Given the description of an element on the screen output the (x, y) to click on. 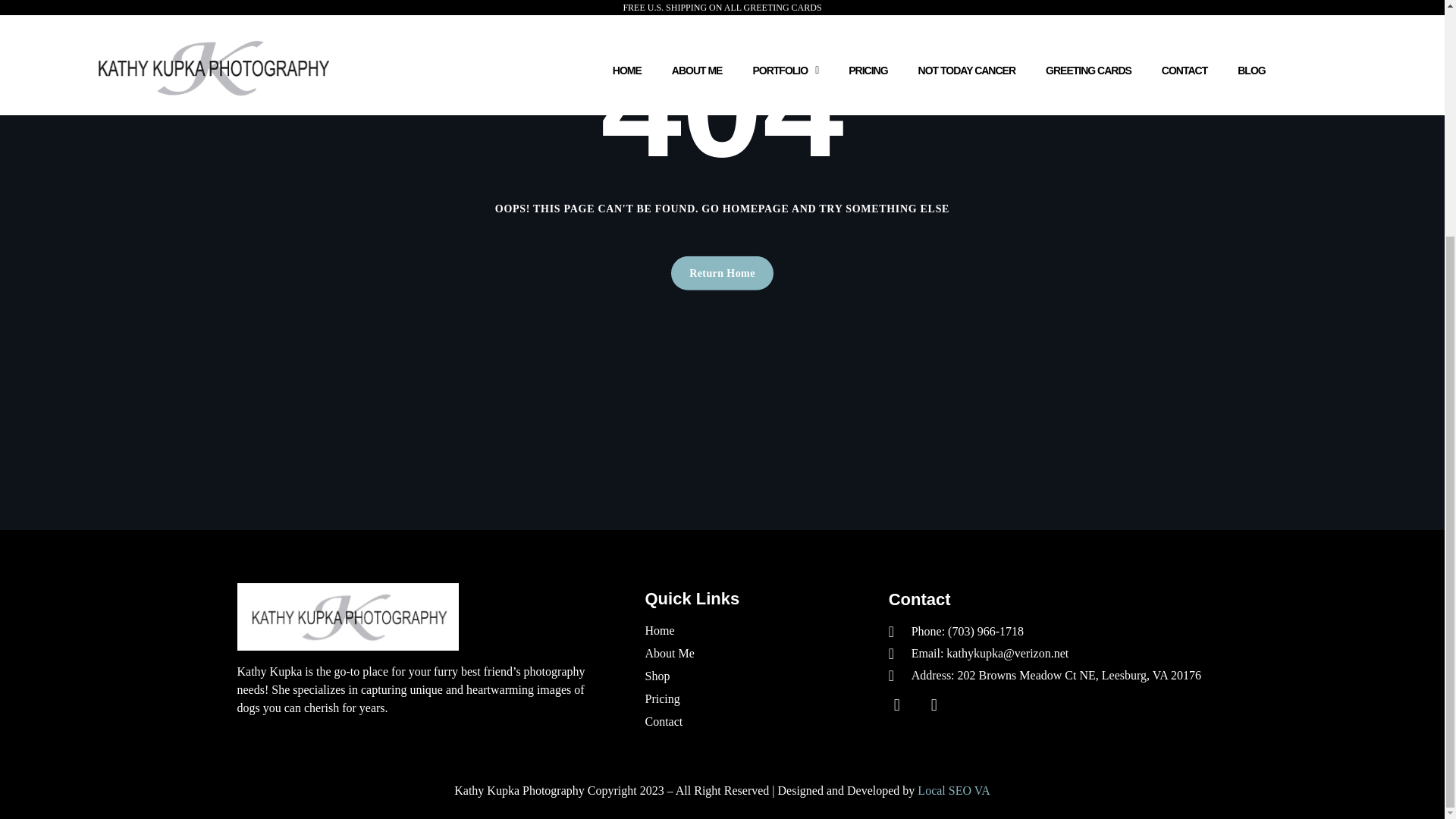
Return Home (722, 273)
Home (754, 630)
